Given the description of an element on the screen output the (x, y) to click on. 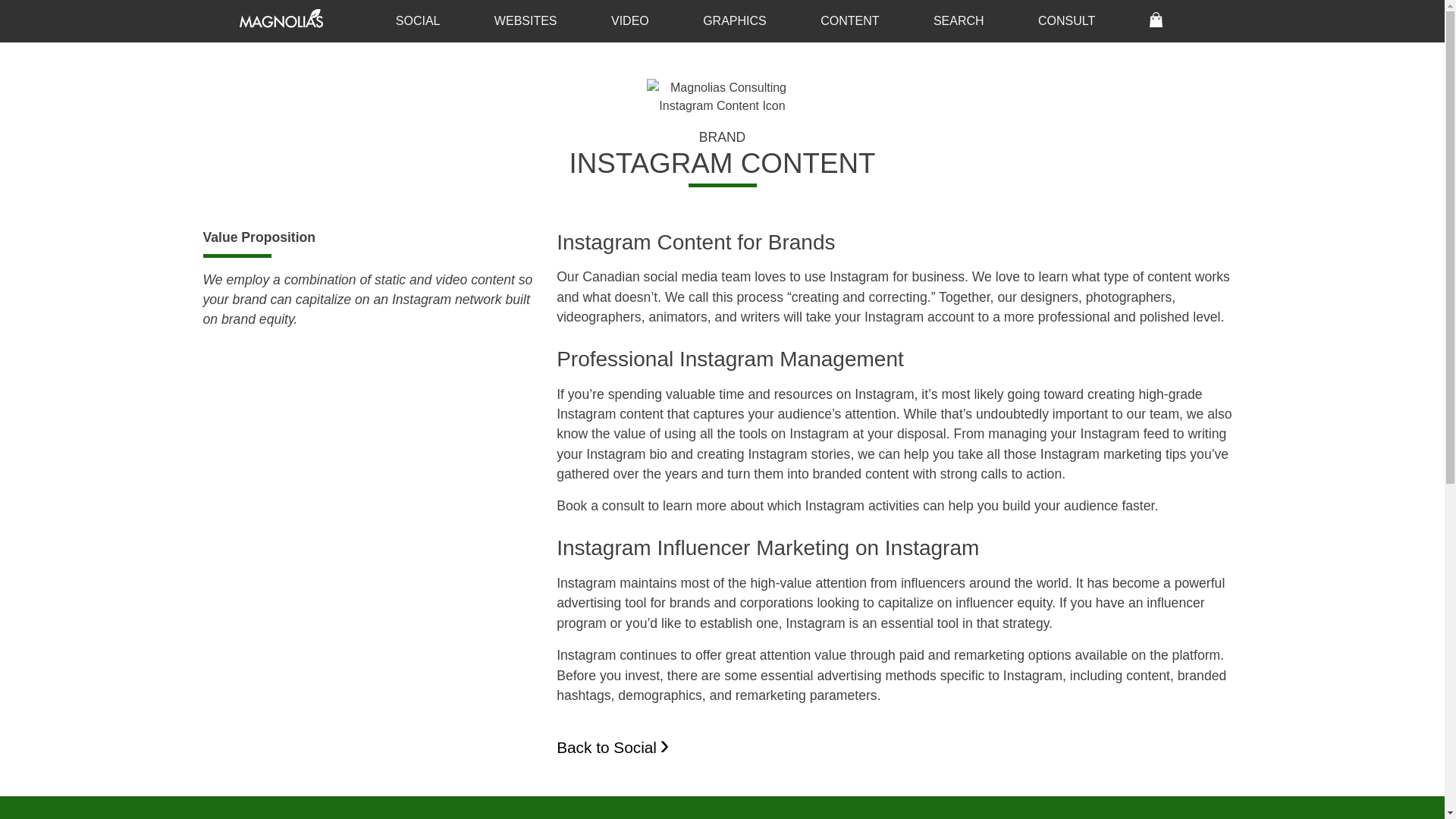
SEARCH (957, 20)
Graphics (734, 20)
WEBSITES (525, 20)
Shop (1155, 20)
Consult (1066, 20)
CONTENT (849, 20)
Websites (525, 20)
VIDEO (629, 20)
Content (849, 20)
Back to Social (610, 747)
Search (957, 20)
SOCIAL (417, 20)
Video (629, 20)
Social (417, 20)
GRAPHICS (734, 20)
